Given the description of an element on the screen output the (x, y) to click on. 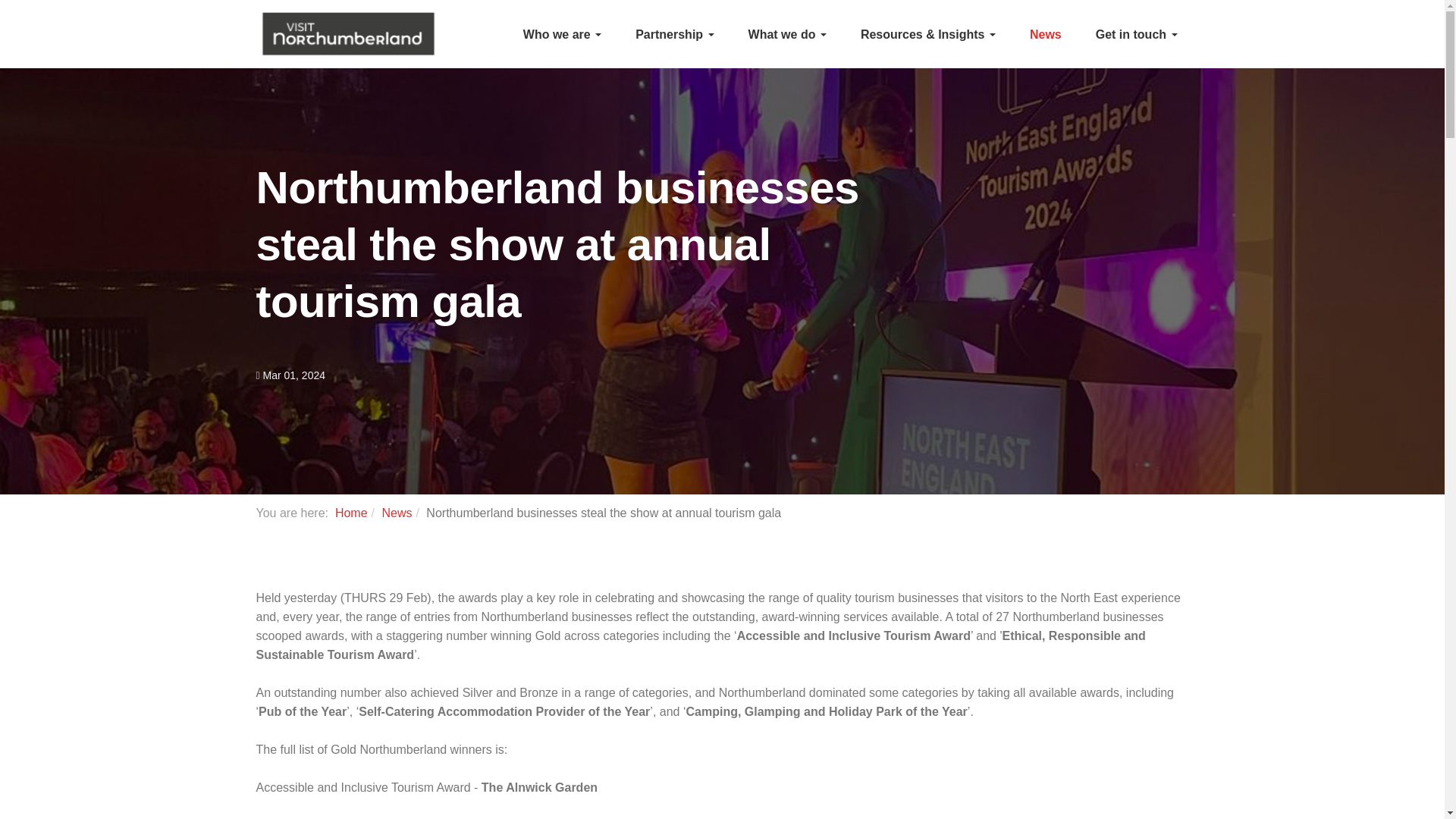
Published:  (291, 375)
